Given the description of an element on the screen output the (x, y) to click on. 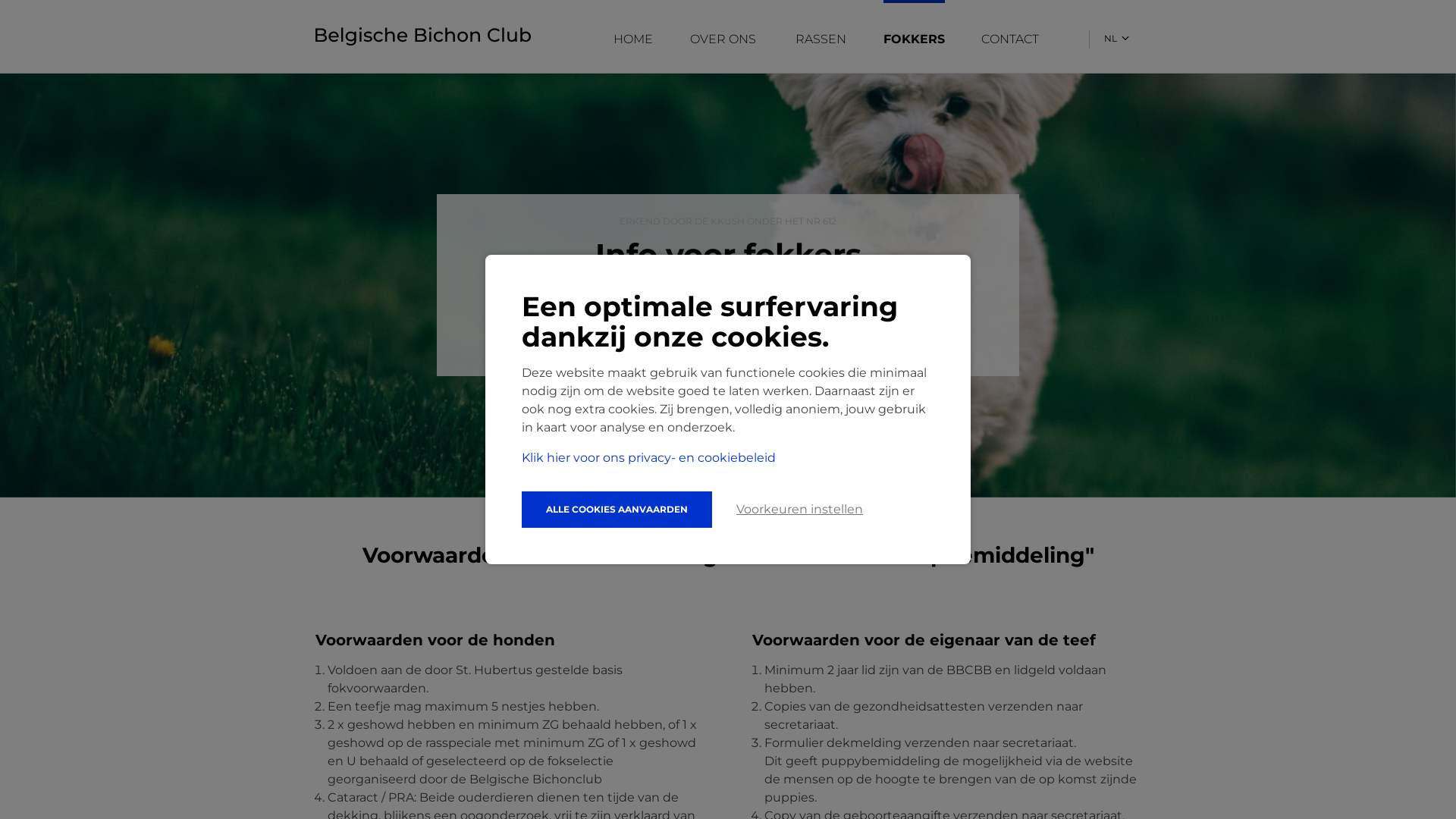
Voorkeuren instellen Element type: text (799, 509)
KLIK BOVENAAN OP "RASSEN"  Element type: text (727, 339)
HOME Element type: text (633, 39)
ALLE COOKIES AANVAARDEN Element type: text (616, 509)
RASSEN Element type: text (821, 39)
CONTACT Element type: text (1012, 39)
Klik hier voor ons privacy- en cookiebeleid Element type: text (648, 457)
OVER ONS Element type: text (724, 39)
FOKKERS Element type: text (913, 39)
